Given the description of an element on the screen output the (x, y) to click on. 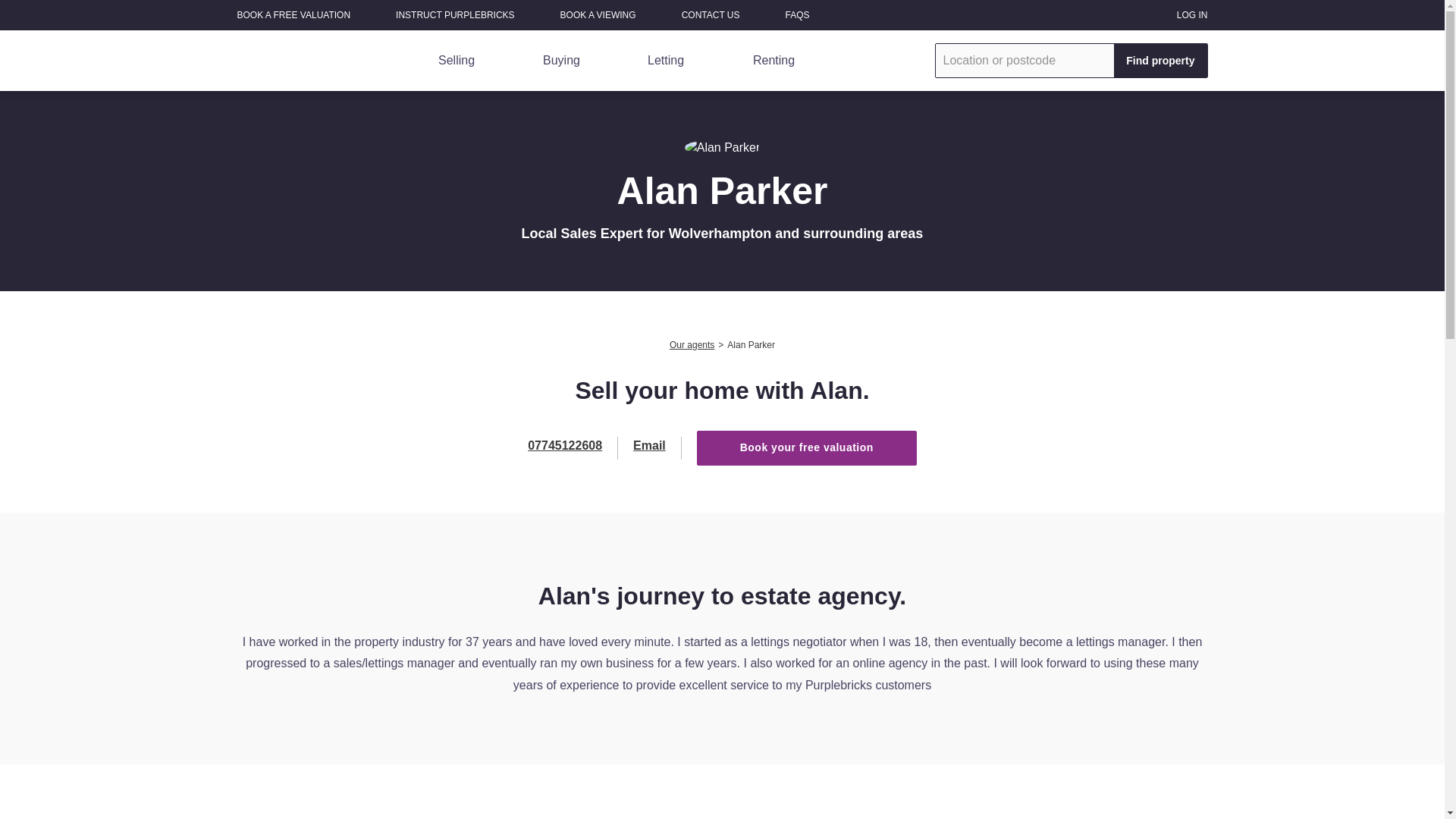
FAQS (797, 14)
Selling (450, 60)
Buying (554, 60)
BOOK A FREE VALUATION (292, 14)
BOOK A VIEWING (598, 14)
Purplebricks (298, 60)
Letting (660, 60)
Search (1160, 60)
LOG IN (1192, 15)
INSTRUCT PURPLEBRICKS (454, 14)
